Given the description of an element on the screen output the (x, y) to click on. 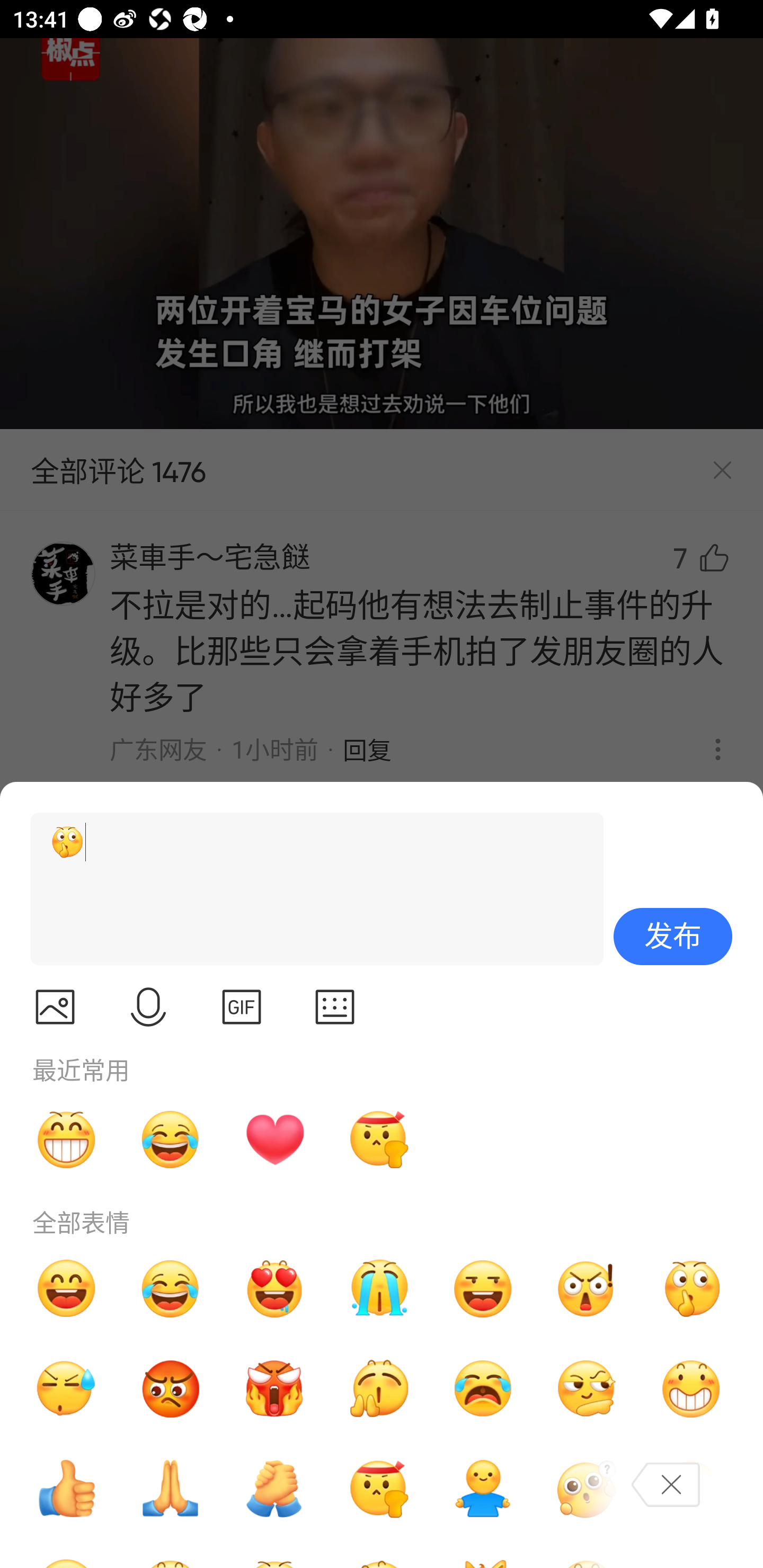
[嘘] (308, 888)
发布 (672, 936)
 (54, 1007)
 (148, 1007)
 (241, 1007)
 (334, 1007)
呲牙 (66, 1138)
哭笑 (170, 1138)
心 (274, 1138)
奋斗 (378, 1138)
哈哈 (66, 1288)
哭笑 (170, 1288)
喜欢 (274, 1288)
哭 (378, 1288)
嘿嘿 (482, 1288)
吃惊 (586, 1288)
嘘 (690, 1288)
汗 (66, 1389)
生气 (170, 1389)
愤怒 (274, 1389)
喝彩 (378, 1389)
抓狂 (482, 1389)
机智 (586, 1389)
坏笑 (690, 1389)
点赞 (66, 1488)
缅怀 (170, 1488)
加油 (274, 1488)
奋斗 (378, 1488)
抱抱 (482, 1488)
疑问 (586, 1488)
